Given the description of an element on the screen output the (x, y) to click on. 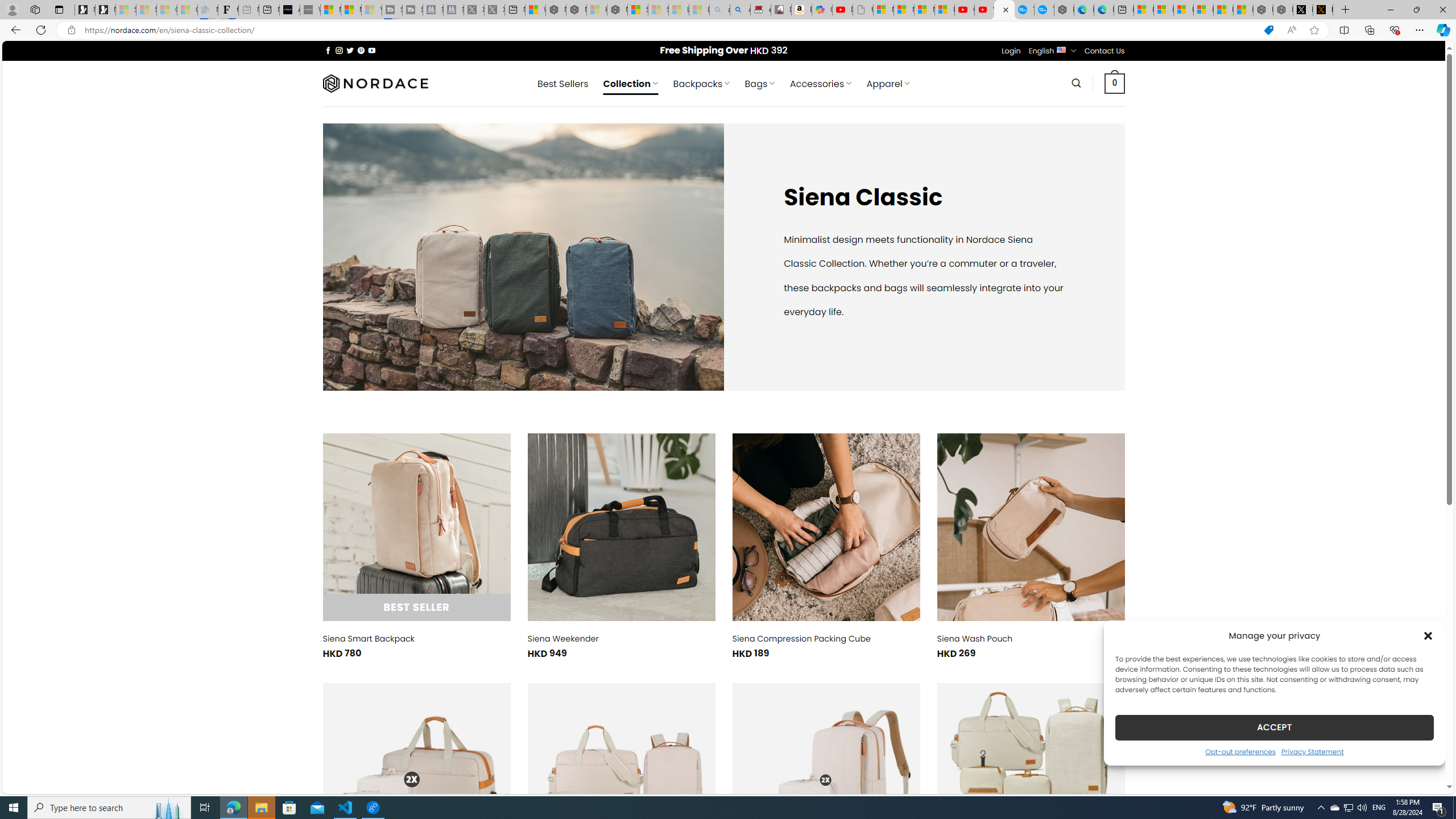
Streaming Coverage | T3 - Sleeping (392, 9)
Amazon Echo Dot PNG - Search Images (740, 9)
  Best Sellers (562, 83)
amazon - Search - Sleeping (719, 9)
Follow on Instagram (338, 49)
Follow on YouTube (371, 49)
help.x.com | 524: A timeout occurred (1322, 9)
